Given the description of an element on the screen output the (x, y) to click on. 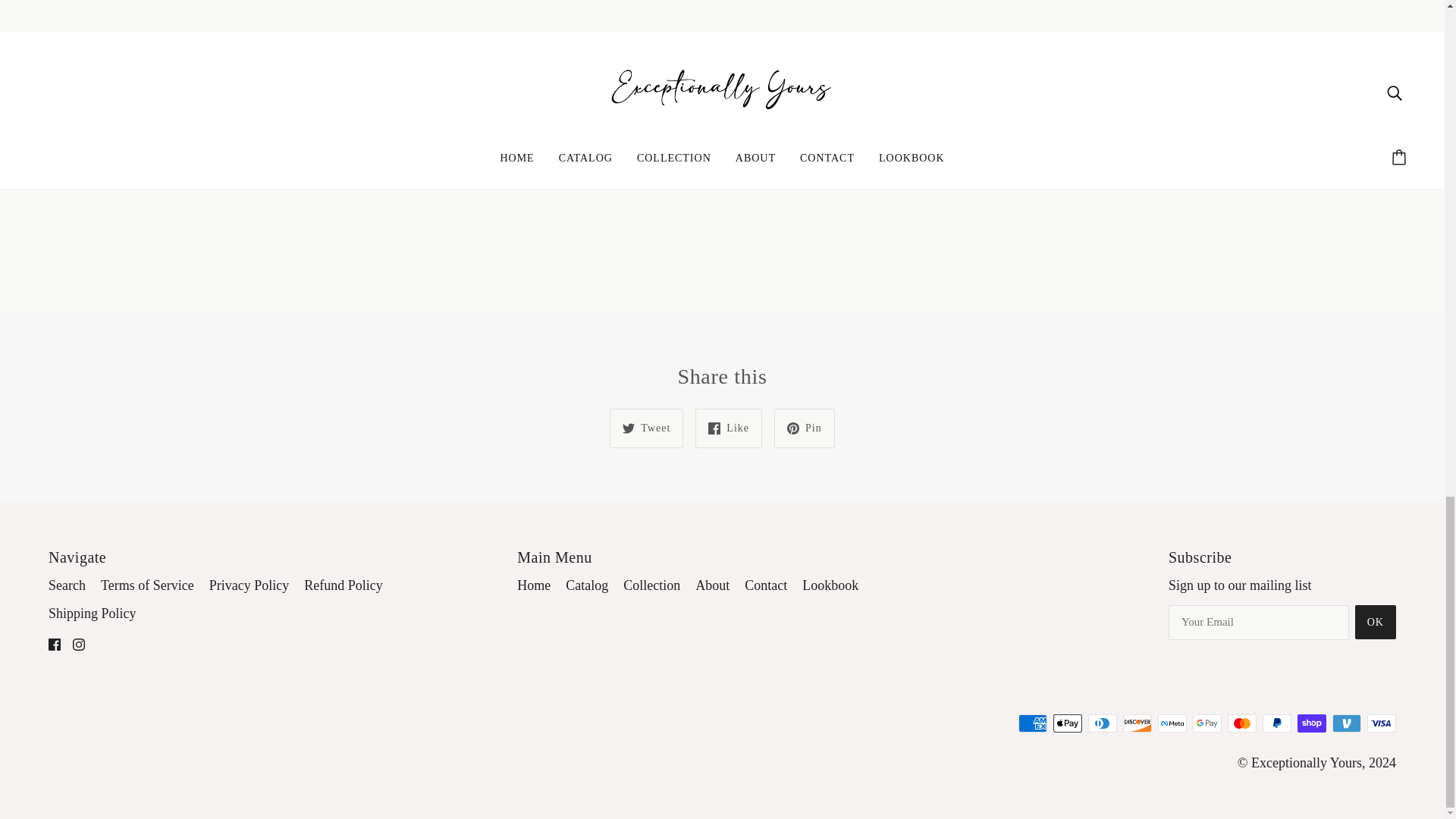
Lookbook (830, 585)
Collection (651, 585)
American Express (1031, 723)
Mastercard (1241, 723)
Refund Policy (343, 585)
OK (1375, 622)
Terms of Service (146, 585)
Google Pay (1206, 723)
PayPal (1276, 723)
Search (66, 585)
Pin (804, 427)
Catalog (587, 585)
Tweet (646, 427)
Refund Policy (343, 585)
Visa (1381, 723)
